Given the description of an element on the screen output the (x, y) to click on. 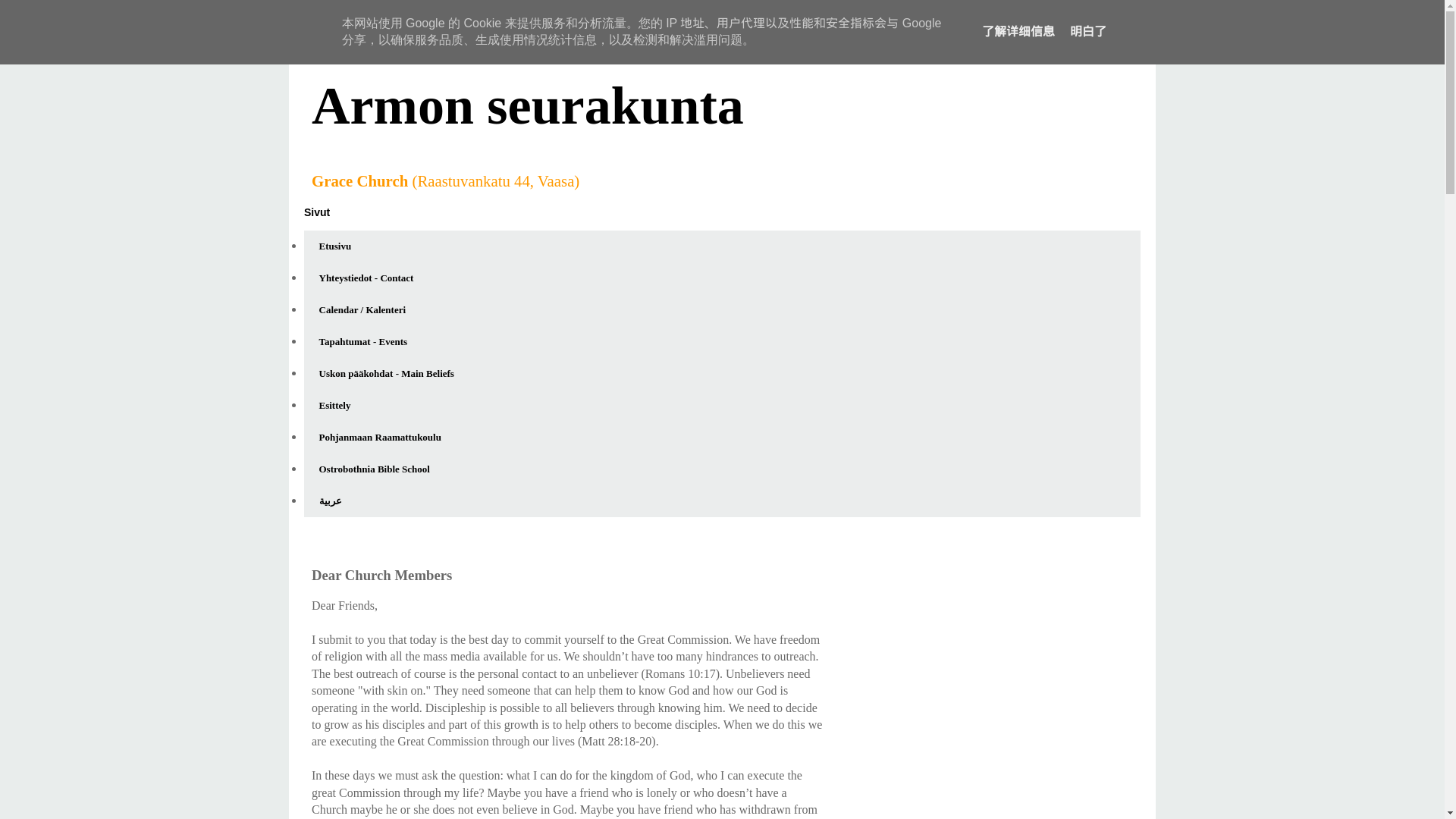
Yhteystiedot - Contact (366, 278)
Armon seurakunta (527, 105)
Esittely (334, 405)
Tapahtumat - Events (363, 341)
Ostrobothnia Bible School (374, 469)
Etusivu (335, 246)
Pohjanmaan Raamattukoulu (379, 437)
